Given the description of an element on the screen output the (x, y) to click on. 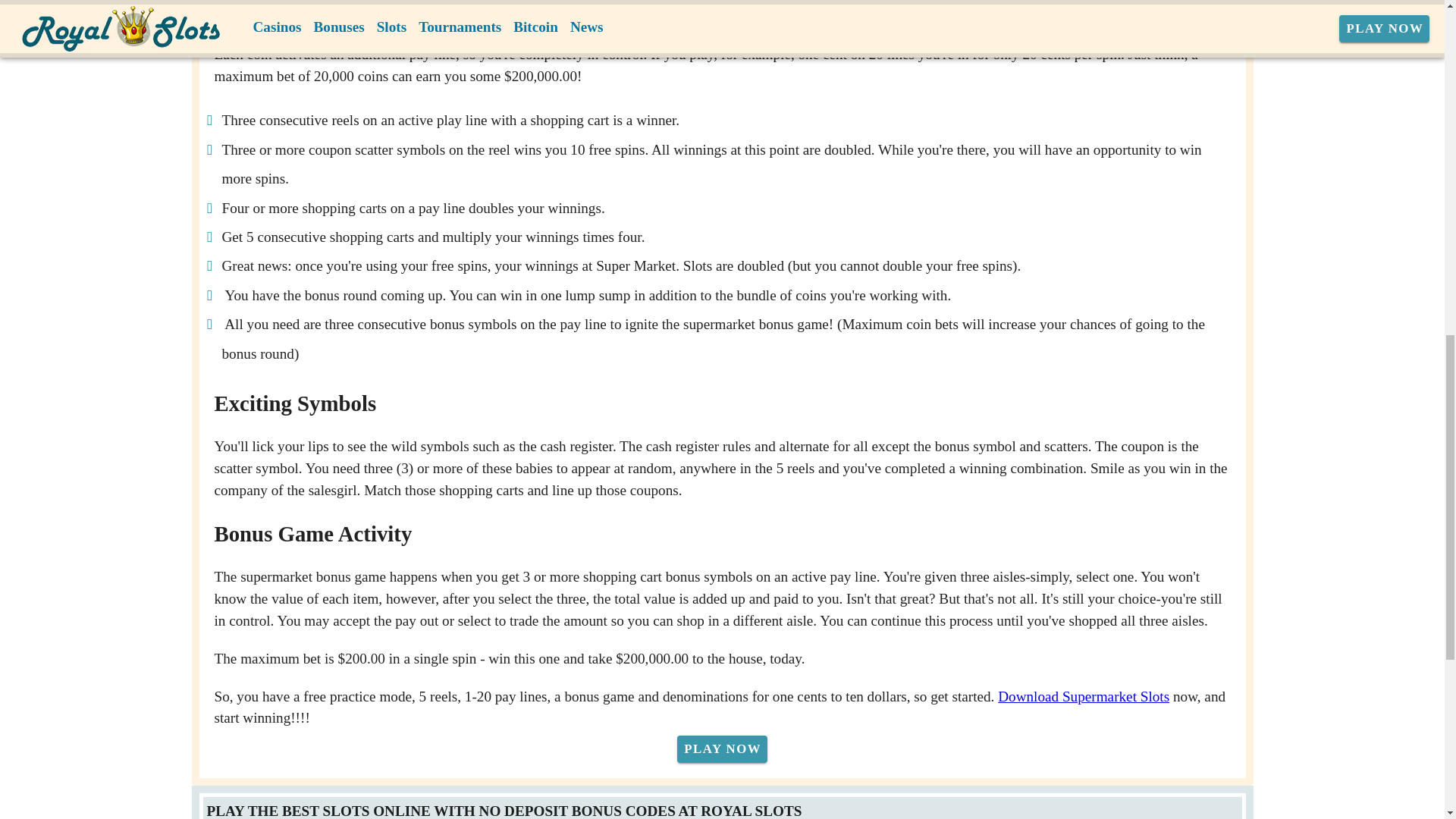
PLAY NOW (722, 748)
Download Supermarket Slots (1083, 696)
